Given the description of an element on the screen output the (x, y) to click on. 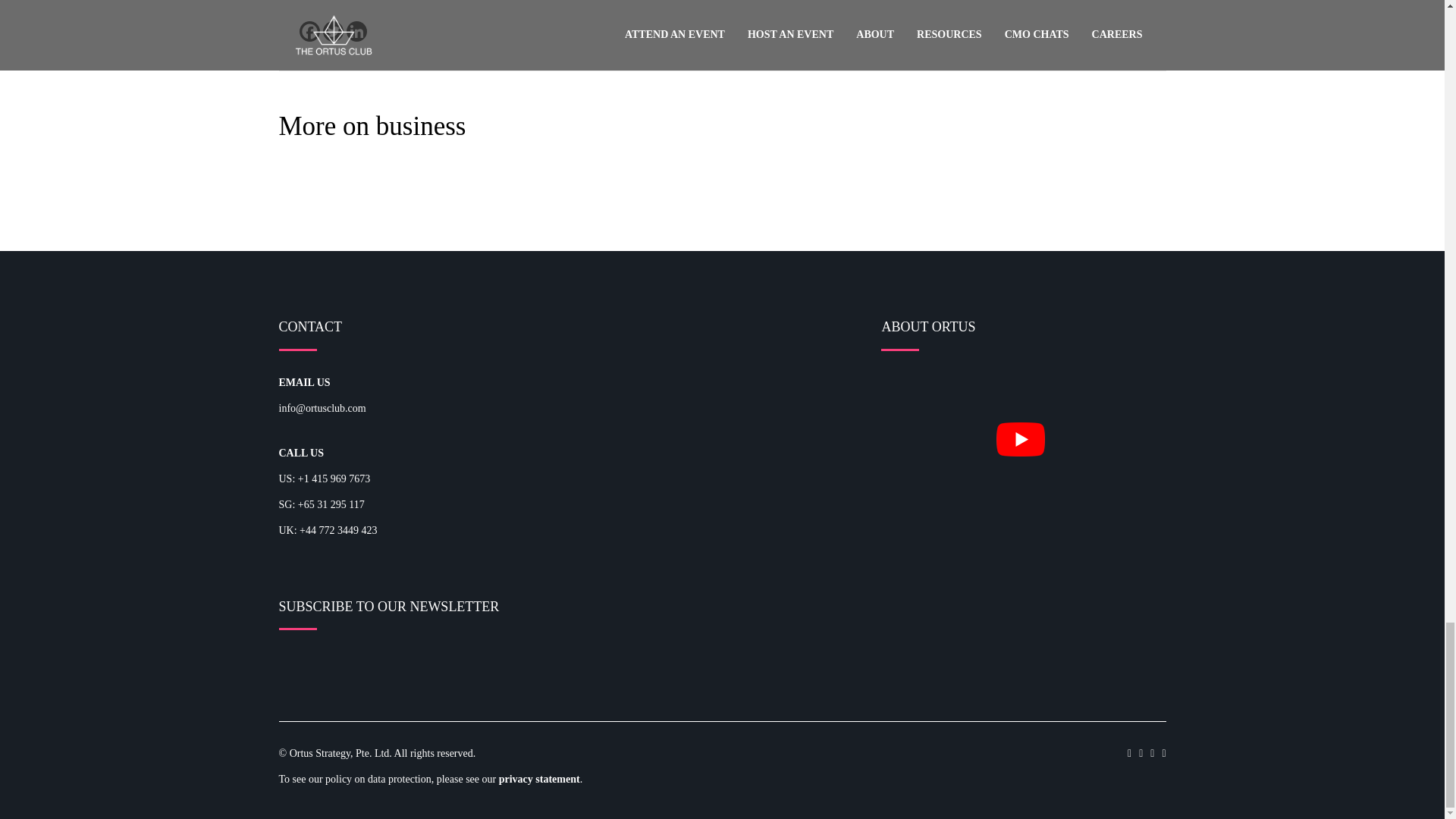
Facebook (308, 31)
Twitter (333, 31)
